Given the description of an element on the screen output the (x, y) to click on. 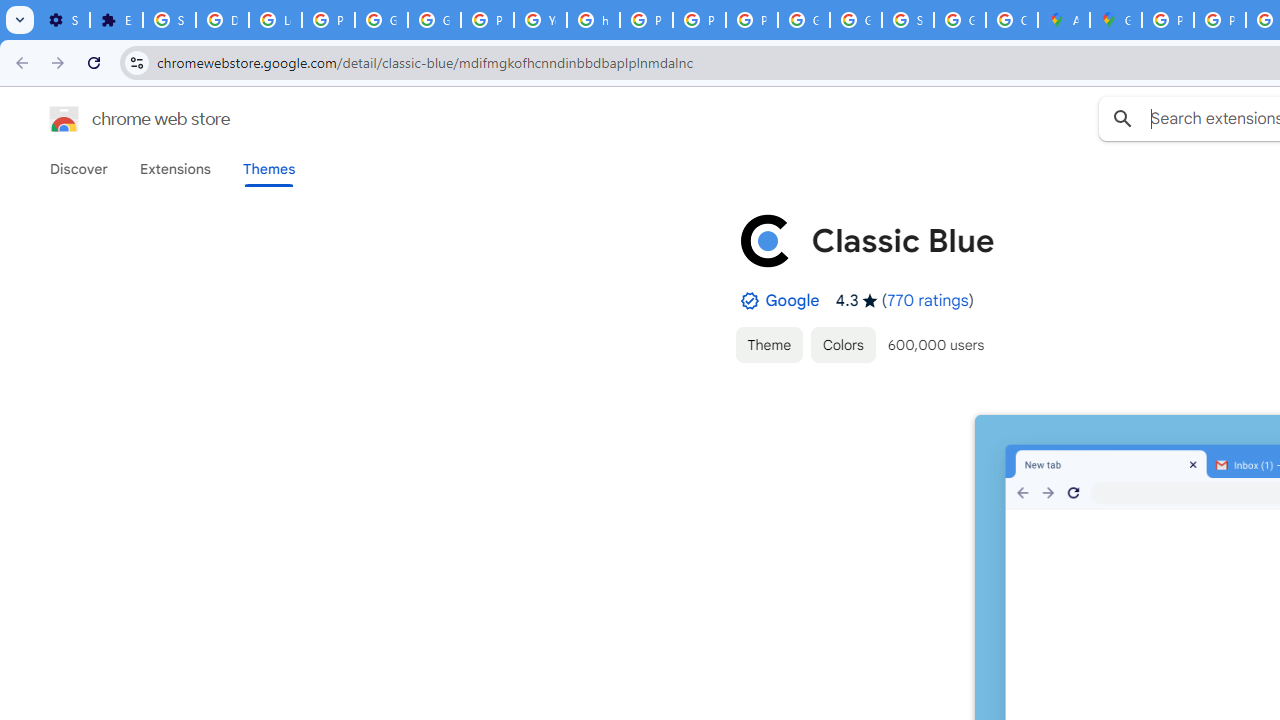
YouTube (540, 20)
Discover (79, 169)
Delete photos & videos - Computer - Google Photos Help (222, 20)
Policy Accountability and Transparency - Transparency Center (1167, 20)
Privacy Help Center - Policies Help (646, 20)
Google Maps (1115, 20)
Themes (269, 169)
